Given the description of an element on the screen output the (x, y) to click on. 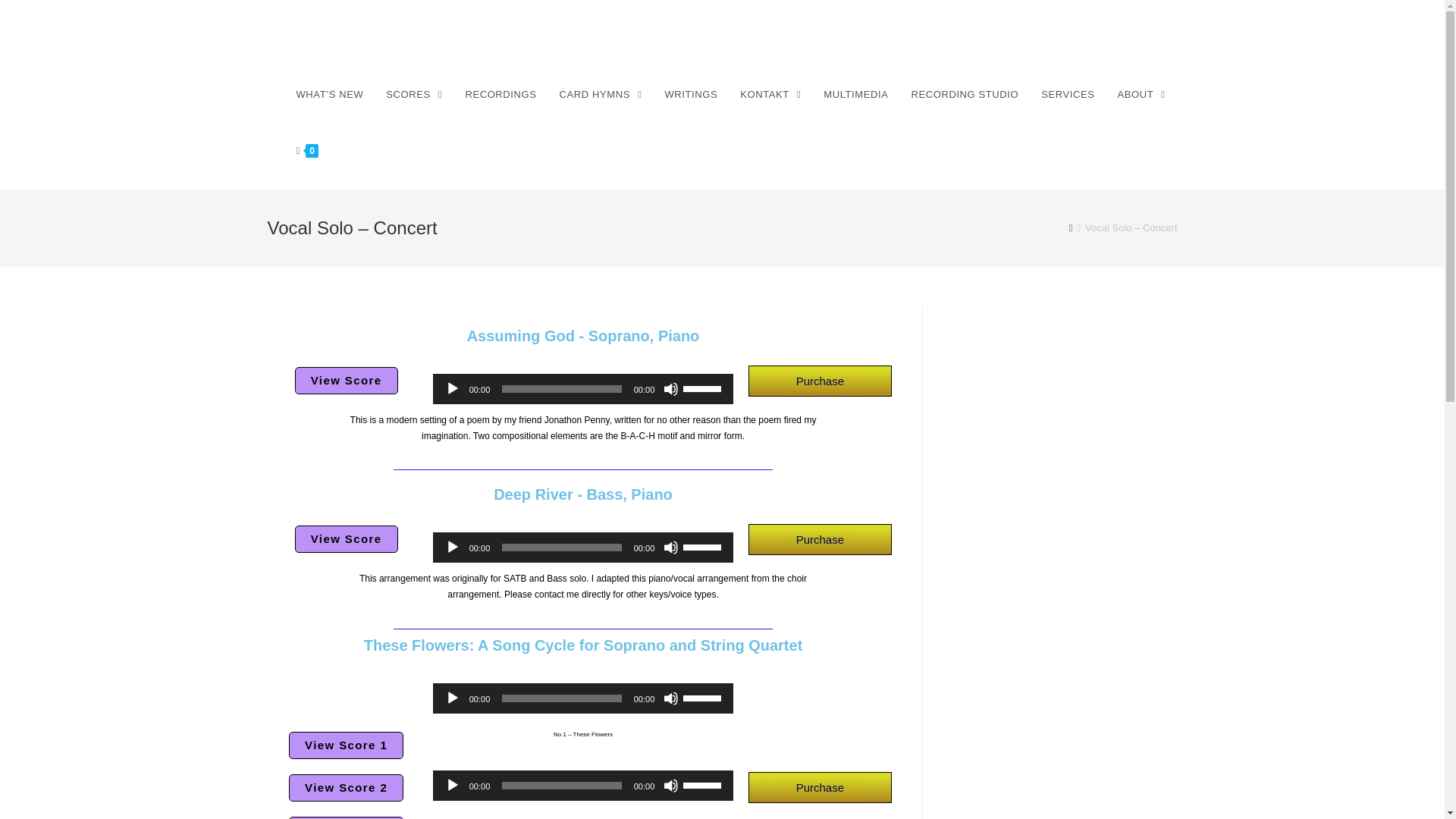
RECORDINGS (499, 94)
KONTAKT (770, 94)
RECORDING STUDIO (964, 94)
WRITINGS (690, 94)
Mark Mitchell Music (367, 38)
Mute (670, 785)
Play (452, 785)
Mute (670, 388)
Play (452, 547)
MULTIMEDIA (855, 94)
